Given the description of an element on the screen output the (x, y) to click on. 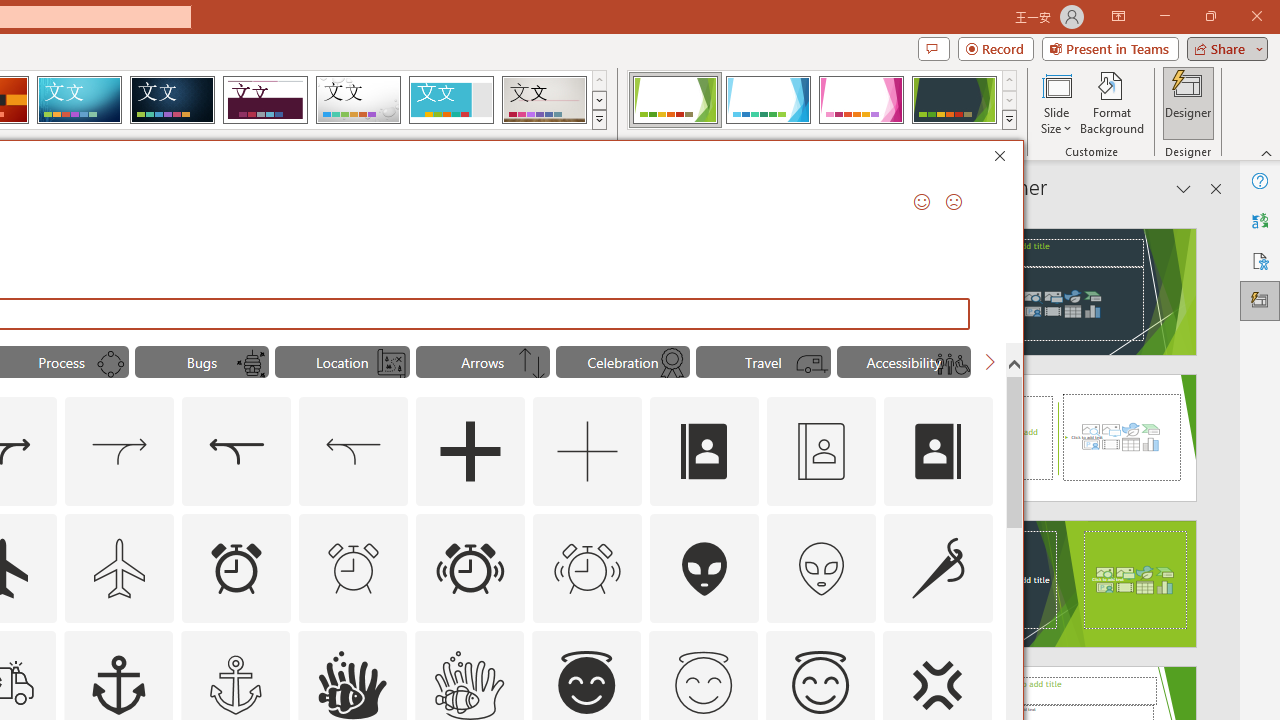
"Location" Icons. (342, 362)
AutomationID: Icons_TreasureMap_M (391, 364)
"Celebration" Icons. (622, 362)
AutomationID: Icons_AlienFace_M (821, 568)
AutomationID: Icons_CirclesWithLines_M (111, 364)
outline (820, 685)
AutomationID: Icons_Sort_M (532, 364)
AutomationID: Icons_AlarmClock (236, 568)
